Given the description of an element on the screen output the (x, y) to click on. 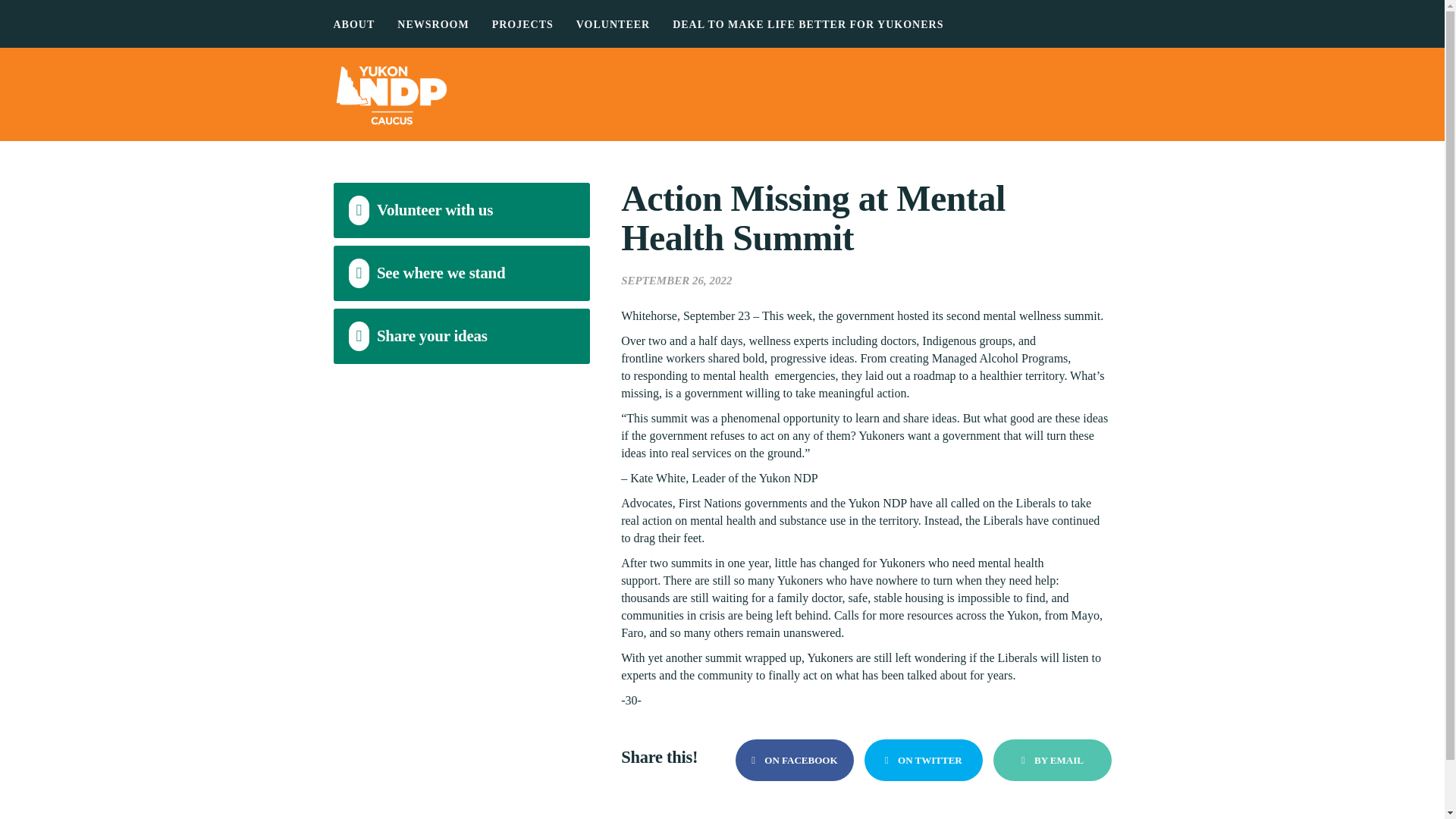
ABOUT (354, 24)
ON FACEBOOK (794, 760)
BY EMAIL (1051, 760)
Volunteer with us (462, 210)
Yukon NDP Caucus (722, 94)
VOLUNTEER (612, 24)
See where we stand (462, 273)
DEAL TO MAKE LIFE BETTER FOR YUKONERS (807, 24)
Share your ideas (462, 335)
PROJECTS (522, 24)
